Given the description of an element on the screen output the (x, y) to click on. 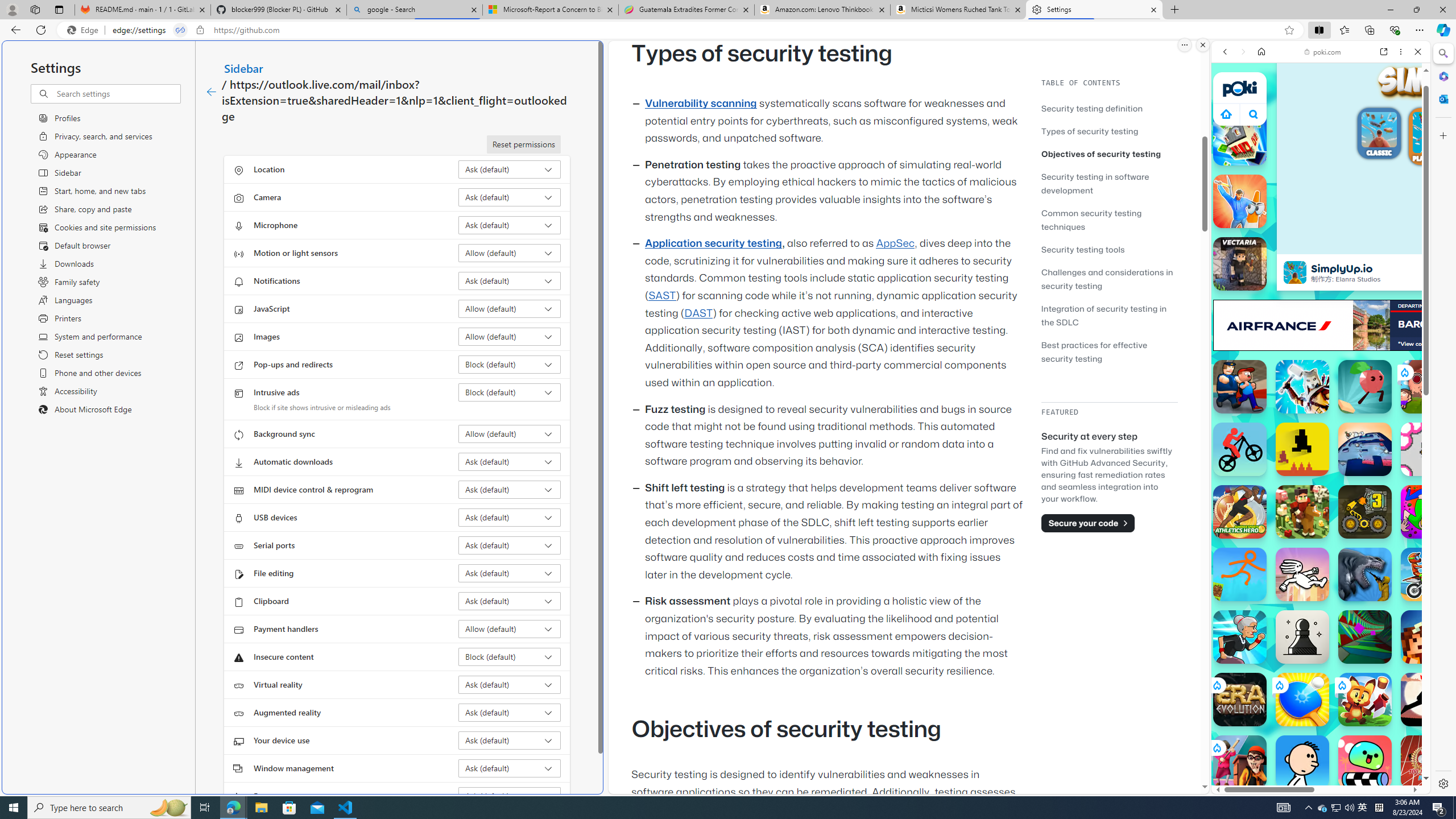
JollyWorld (1427, 511)
Classic Chess (1302, 636)
Show More Car Games (1390, 268)
Poor Eddie Poor Eddie (1302, 761)
Search settings (117, 93)
Athletics Hero Athletics Hero (1239, 511)
Sharkosaurus Rampage (1364, 574)
Reset permissions (523, 144)
BoxRob 3 (1364, 511)
Show More Two Player Games (1390, 323)
Shooting Games (1320, 295)
Tunnel Rush Tunnel Rush (1364, 636)
Ping Pong Go! (1302, 699)
